Given the description of an element on the screen output the (x, y) to click on. 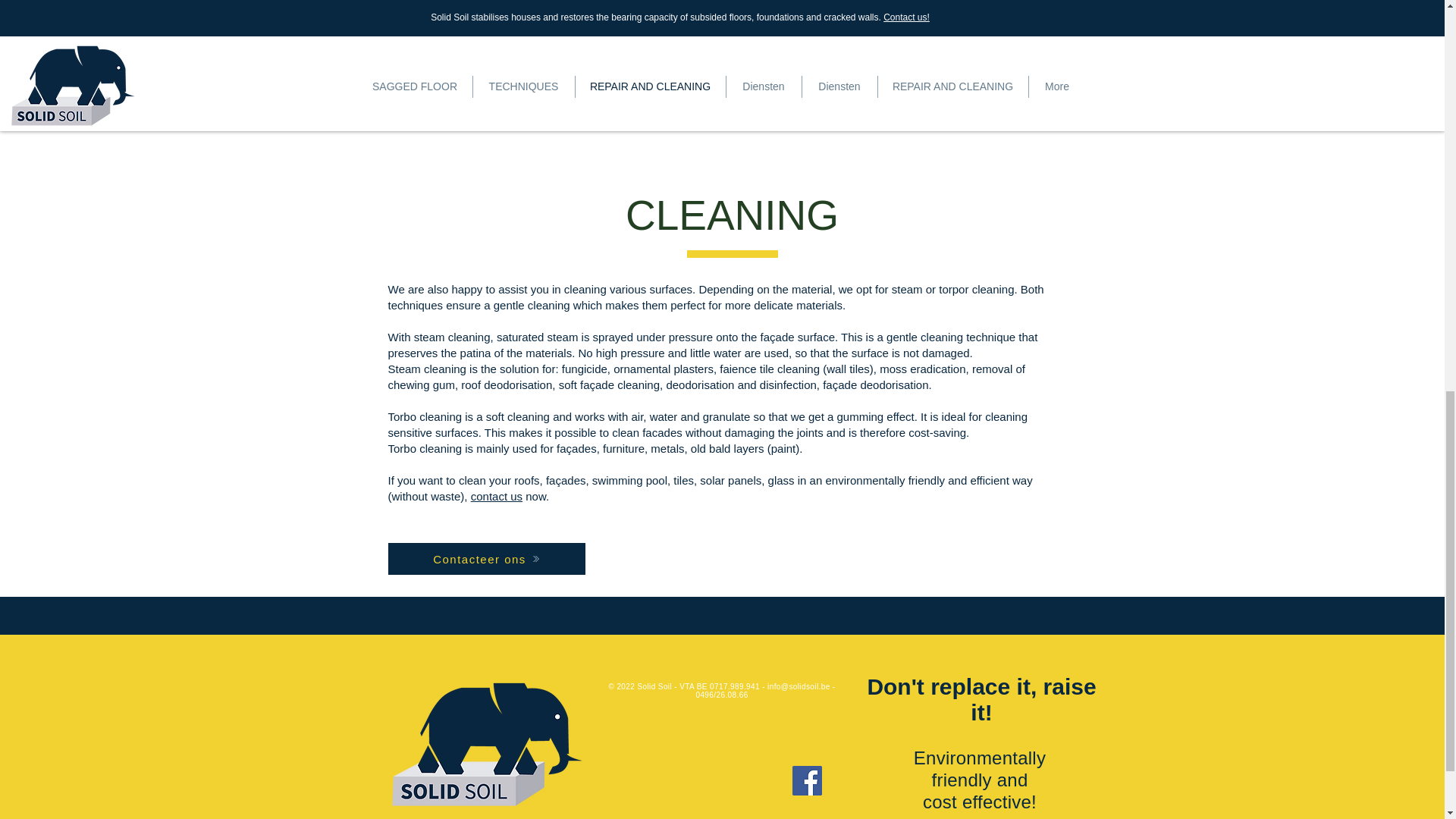
Contacteer ons (486, 558)
contact us (496, 495)
Contacteer ons (479, 110)
